Given the description of an element on the screen output the (x, y) to click on. 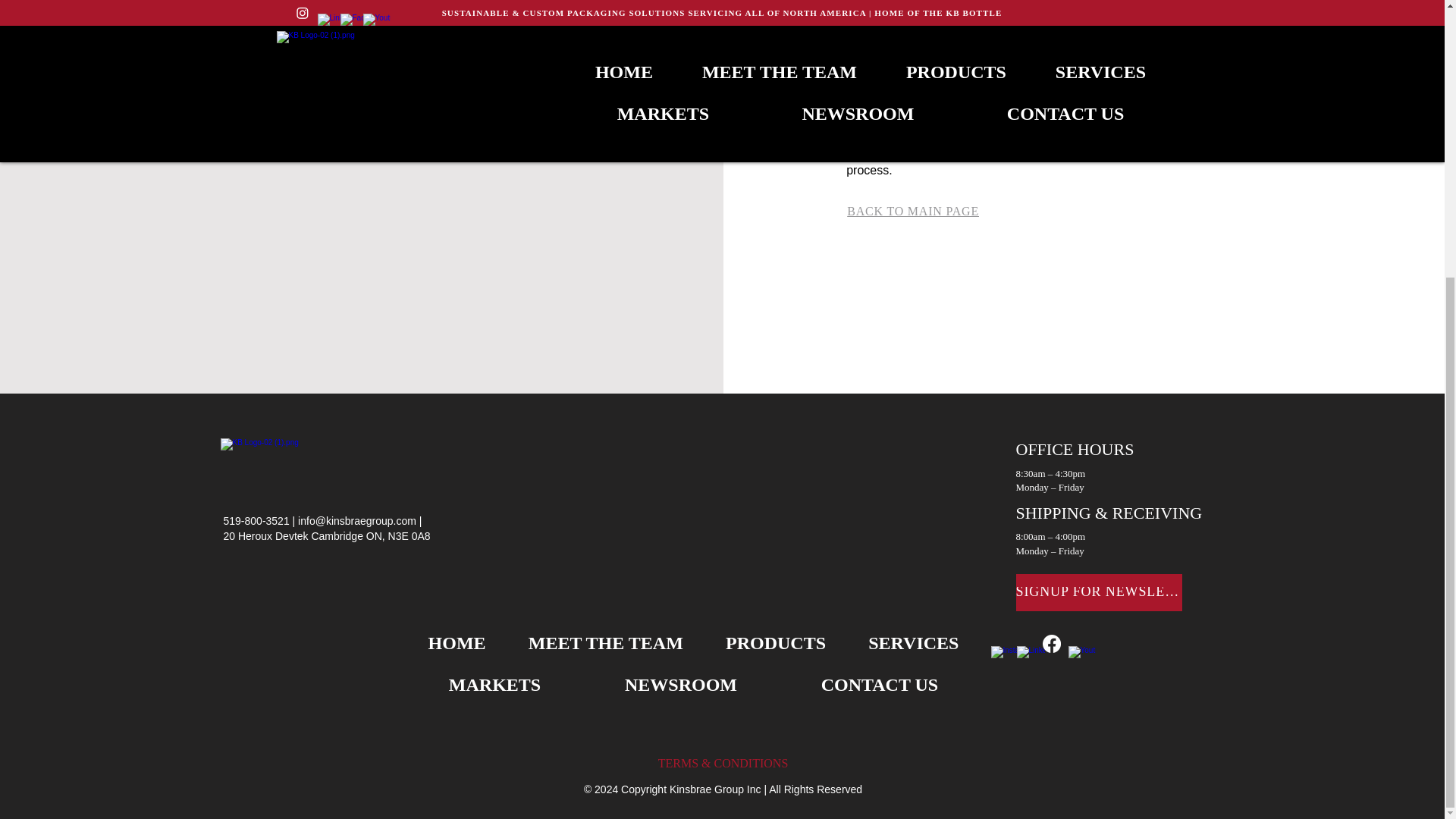
BACK TO MAIN PAGE (912, 210)
HOME (456, 642)
SIGNUP FOR NEWSLETTER (1099, 592)
20 Heroux Devtek Cambridge ON, N3E 0A8 (325, 535)
PRODUCTS (775, 642)
MEET THE TEAM (606, 642)
